Given the description of an element on the screen output the (x, y) to click on. 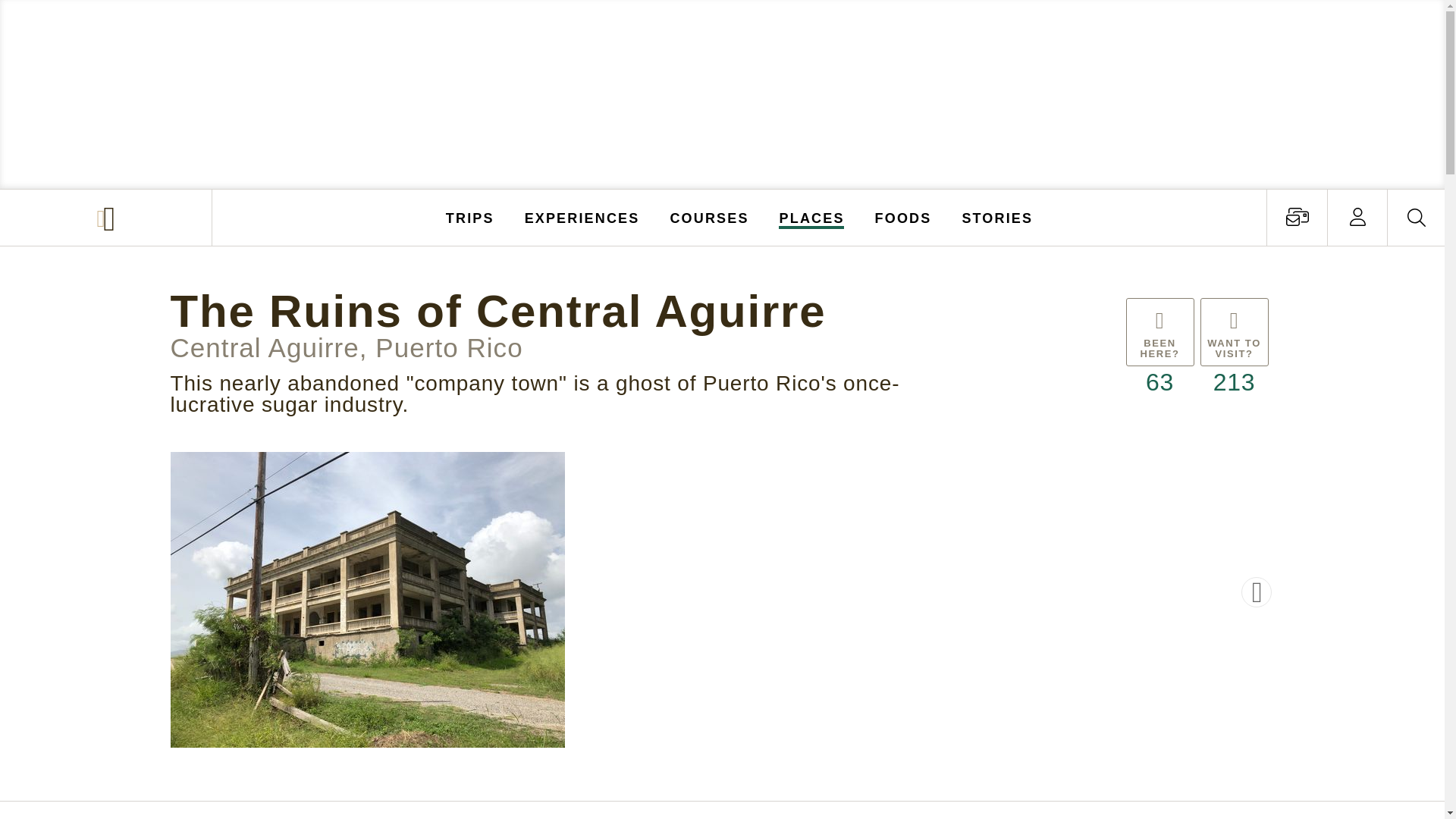
COURSES (707, 217)
PLACES (812, 217)
TRIPS (469, 217)
Atlas Obscura (107, 218)
EXPERIENCES (582, 217)
